Given the description of an element on the screen output the (x, y) to click on. 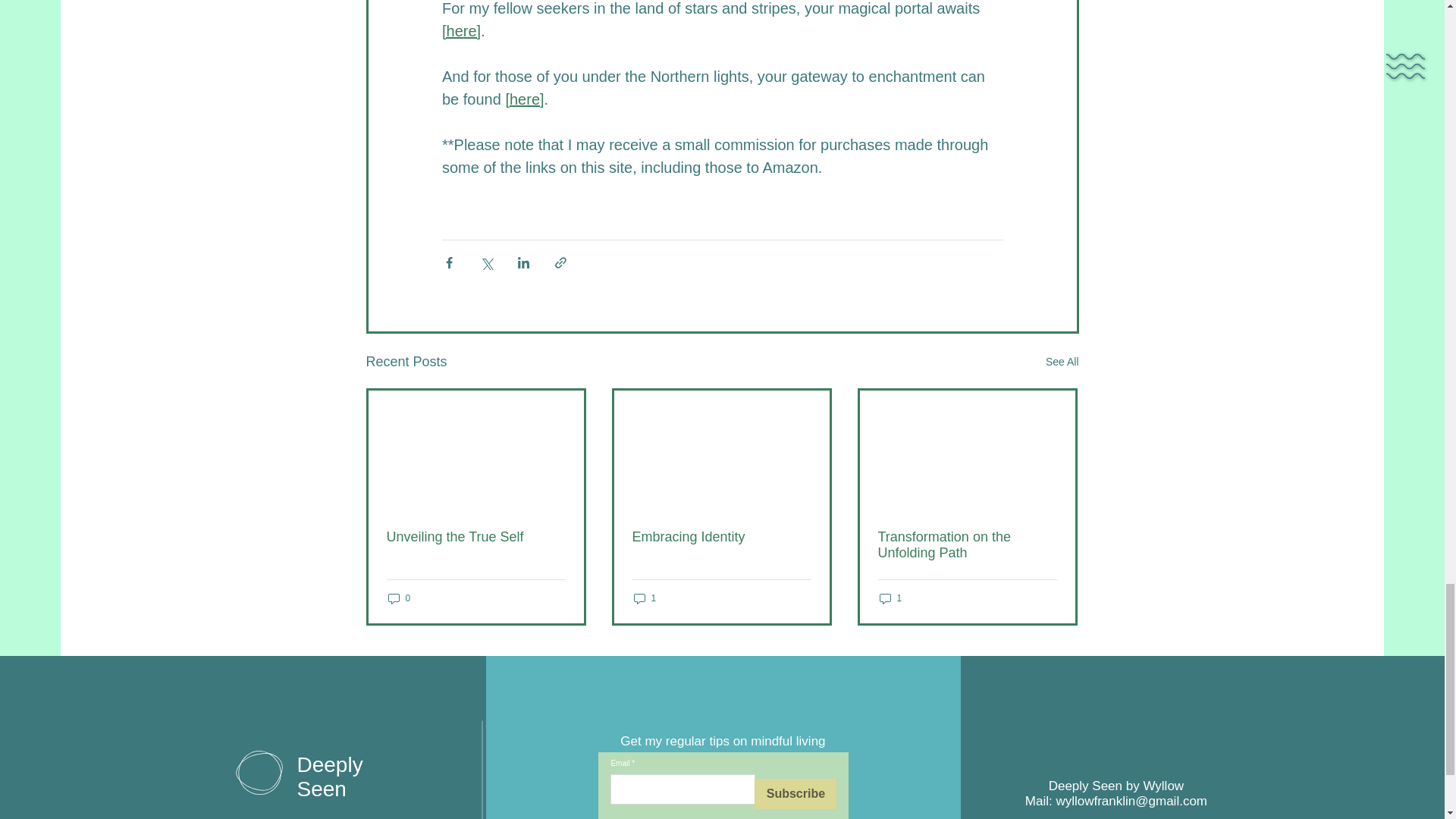
Transformation on the Unfolding Path (967, 545)
Unveiling the True Self (476, 537)
See All (1061, 362)
Subscribe (794, 793)
1 (890, 598)
Embracing Identity (720, 537)
0 (399, 598)
1 (644, 598)
